Given the description of an element on the screen output the (x, y) to click on. 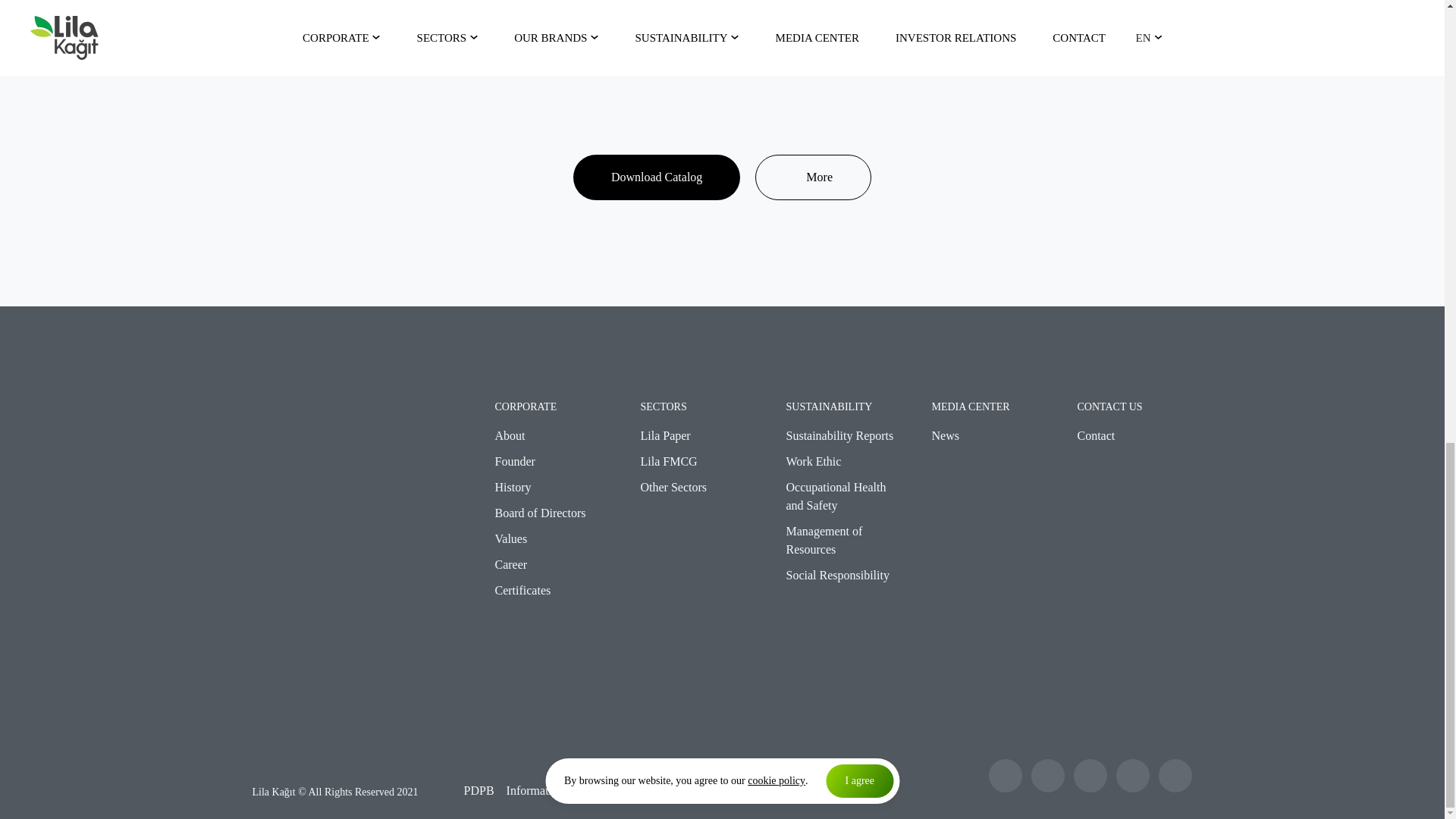
Download Catalog (656, 176)
YouTube video player (519, 42)
More (812, 176)
